Given the description of an element on the screen output the (x, y) to click on. 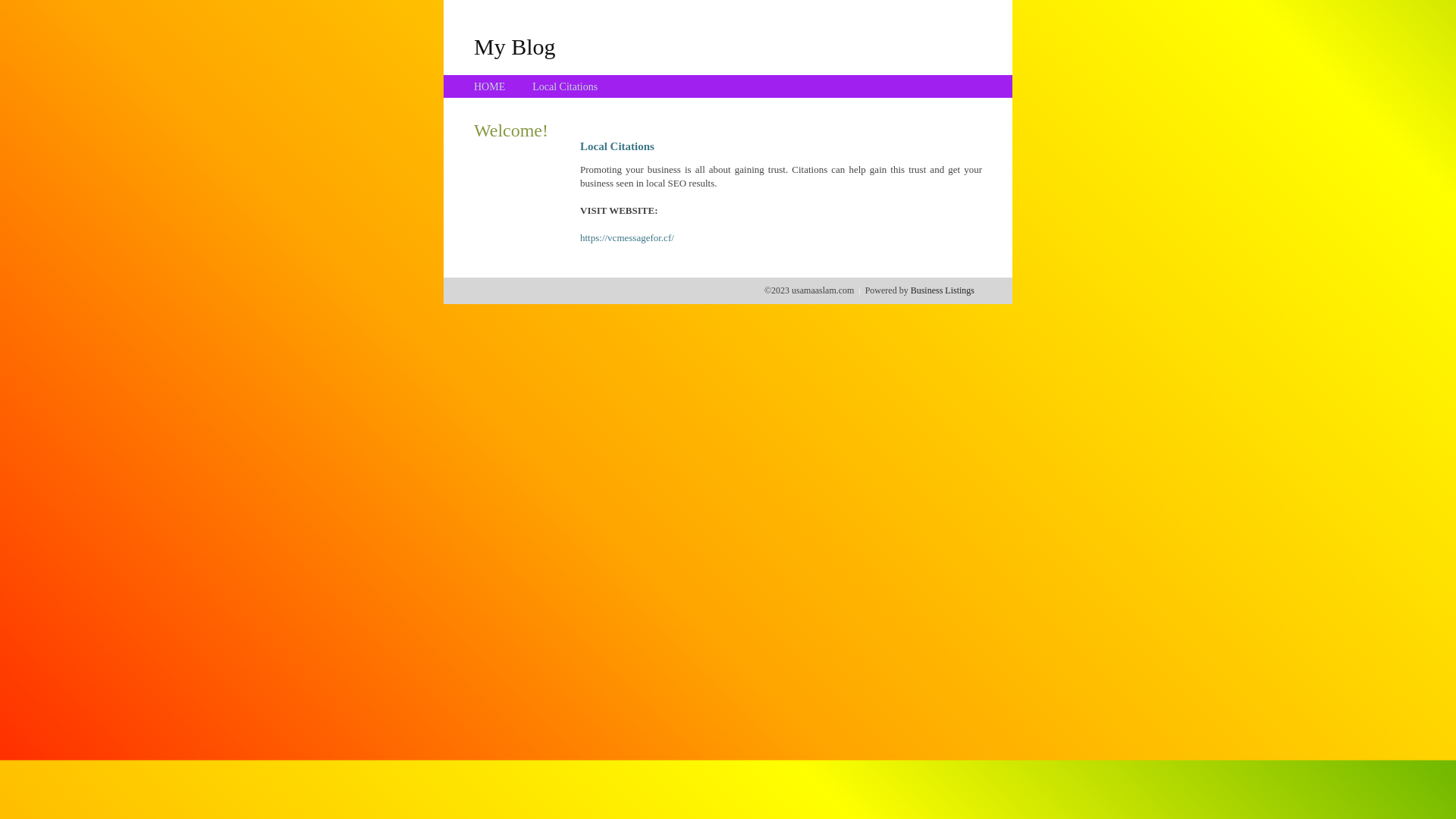
Business Listings Element type: text (942, 290)
HOME Element type: text (489, 86)
Local Citations Element type: text (564, 86)
My Blog Element type: text (514, 46)
https://vcmessagefor.cf/ Element type: text (627, 237)
